Given the description of an element on the screen output the (x, y) to click on. 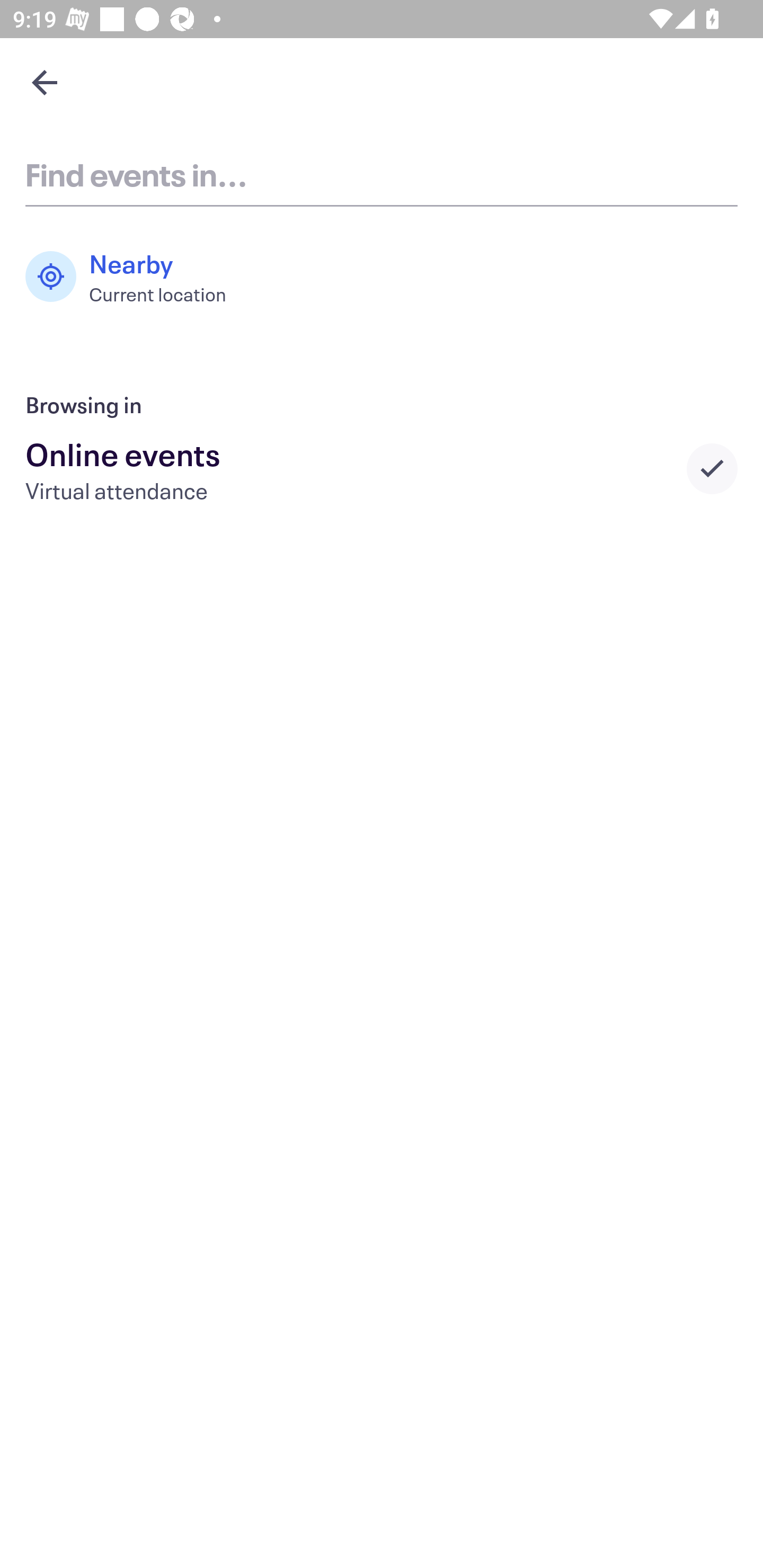
Navigate up (44, 82)
Find events in... (381, 173)
Nearby Current location (135, 276)
Online events Virtual attendance Selected city (381, 468)
